Given the description of an element on the screen output the (x, y) to click on. 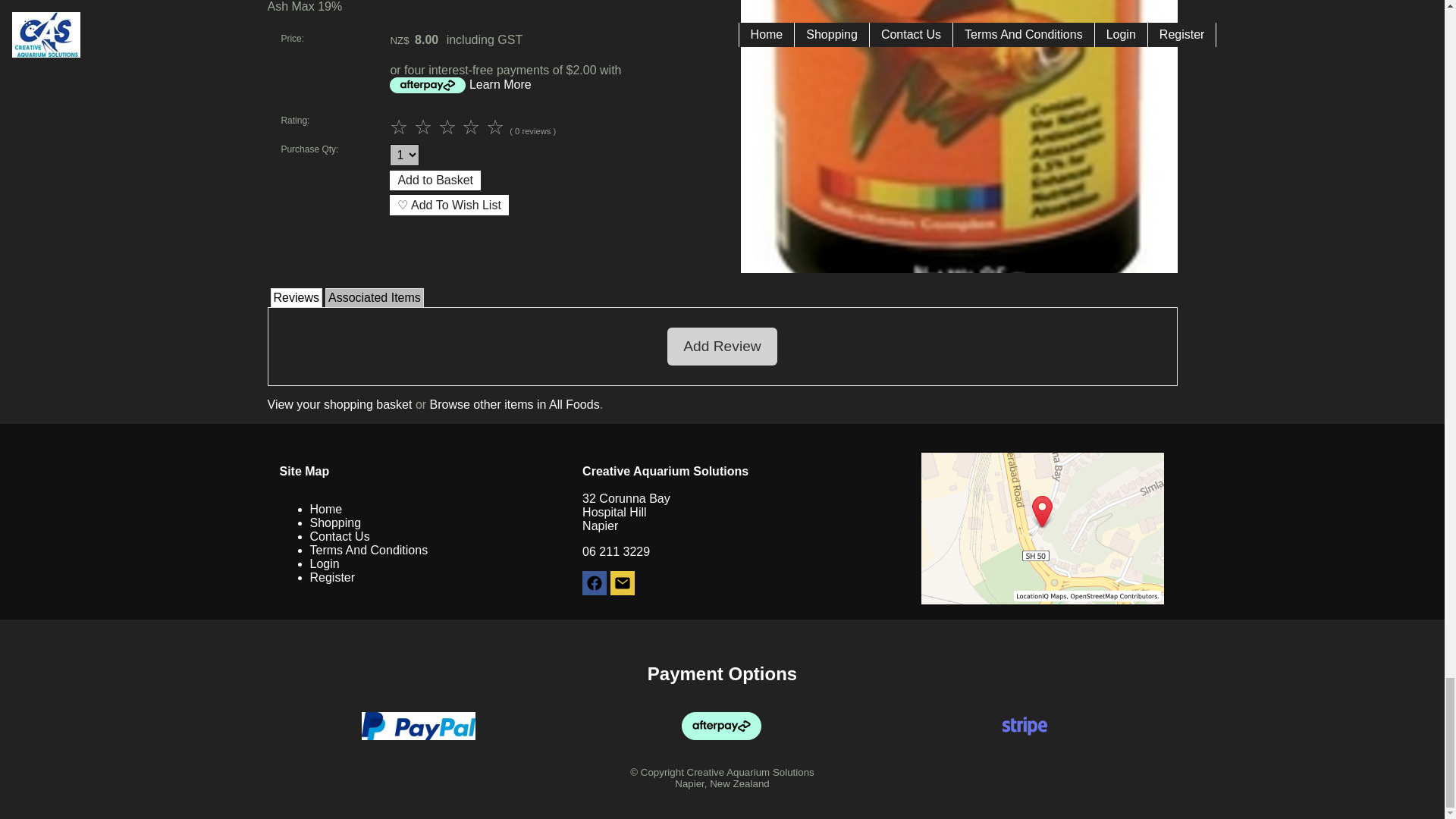
Add to Basket (435, 180)
Submit Product Review (449, 126)
32 Corunna Bay ,Hospital Hill Napier  ,New Zealand (1042, 528)
Aqua One Goldfish Pellet Food 2mm 85g (957, 268)
